Given the description of an element on the screen output the (x, y) to click on. 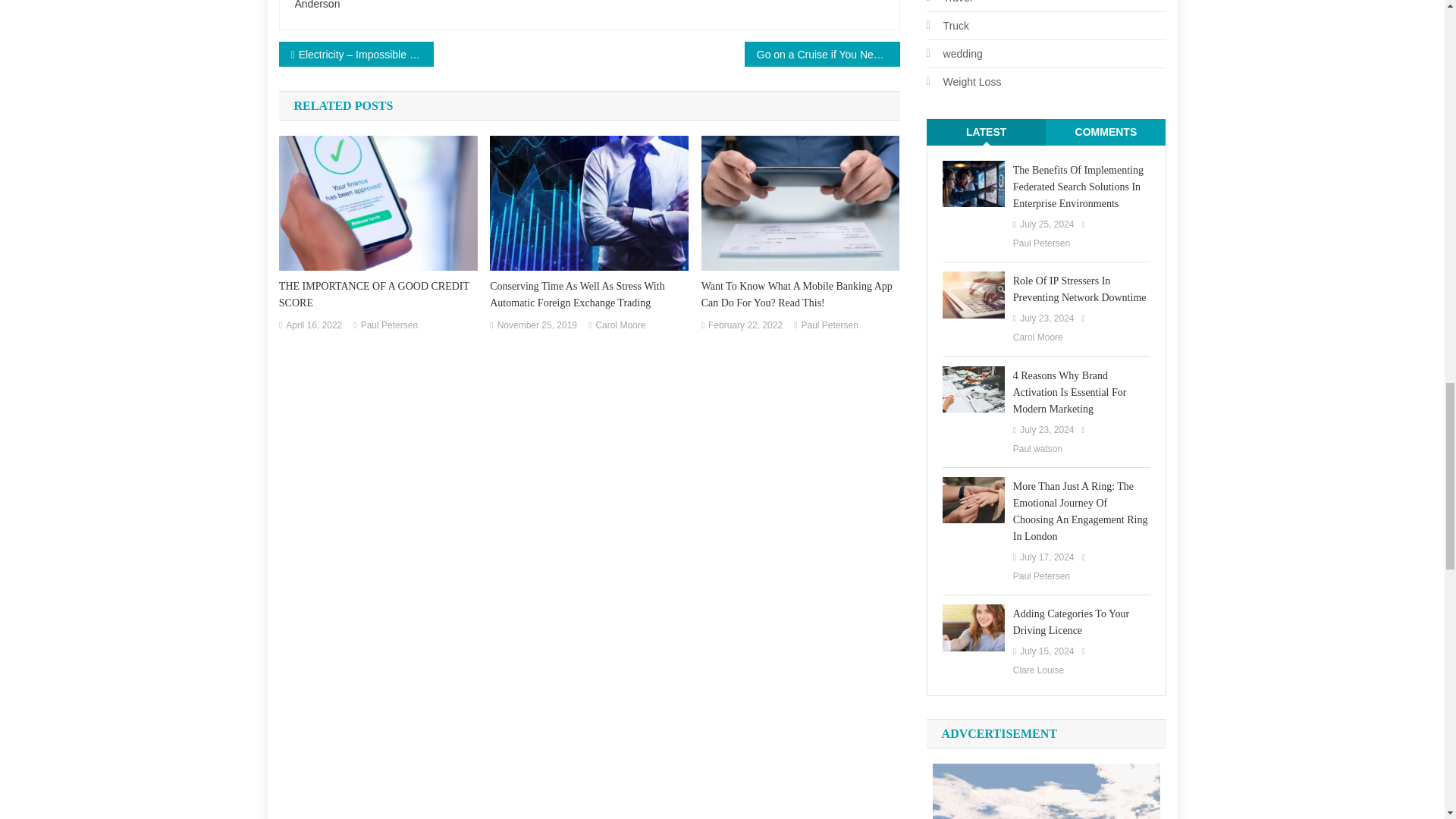
Go on a Cruise if You Need to Slow Down (821, 53)
Paul Petersen (830, 325)
Carol Moore (620, 325)
November 25, 2019 (536, 325)
February 22, 2022 (745, 325)
Paul Petersen (389, 325)
THE IMPORTANCE OF A GOOD CREDIT SCORE (378, 295)
April 16, 2022 (313, 325)
